Given the description of an element on the screen output the (x, y) to click on. 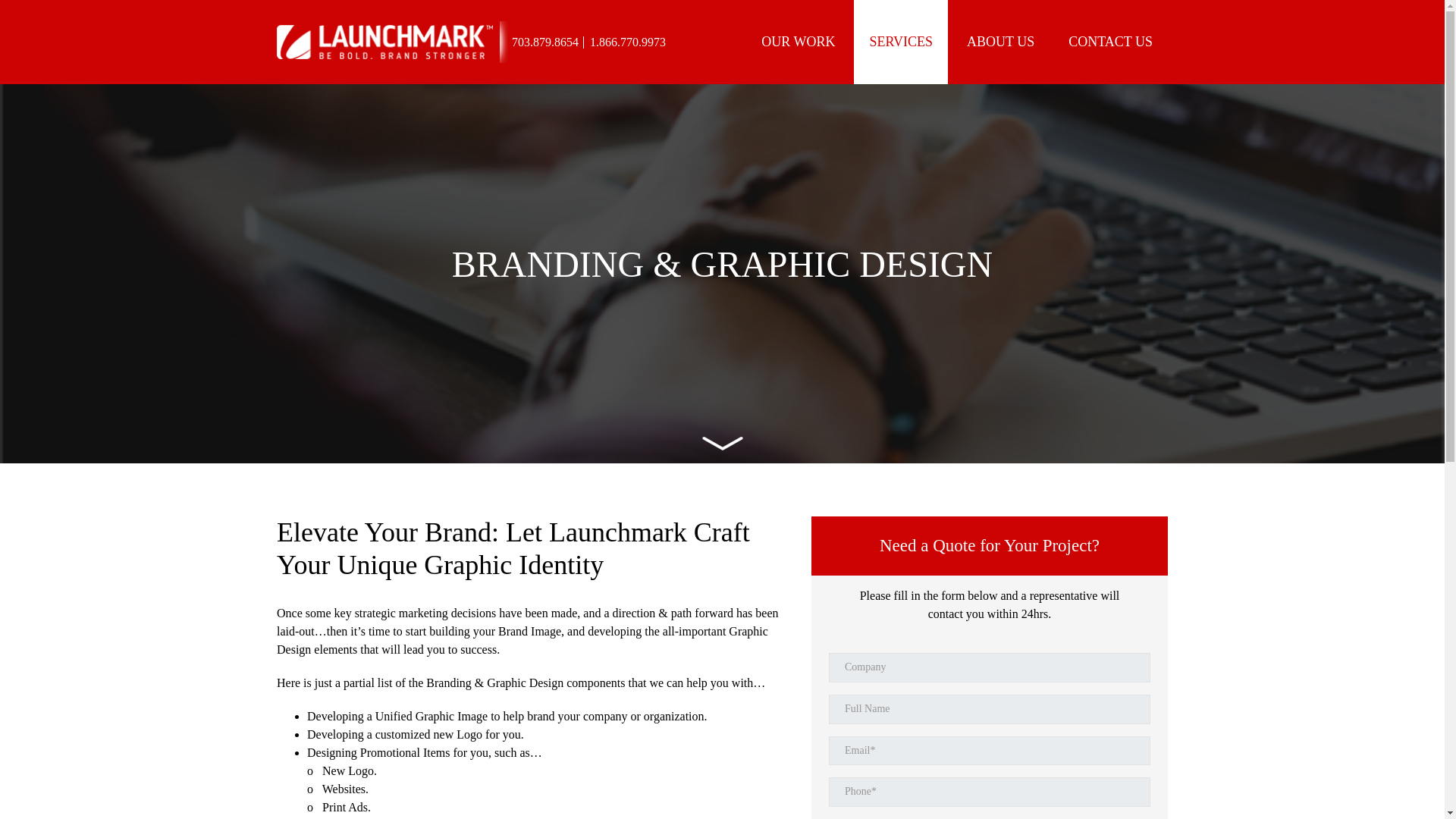
703.879.8654 (545, 42)
ABOUT US (1000, 42)
SERVICES (900, 42)
CONTACT US (1109, 42)
1.866.770.9973 (627, 42)
OUR WORK (797, 42)
